Given the description of an element on the screen output the (x, y) to click on. 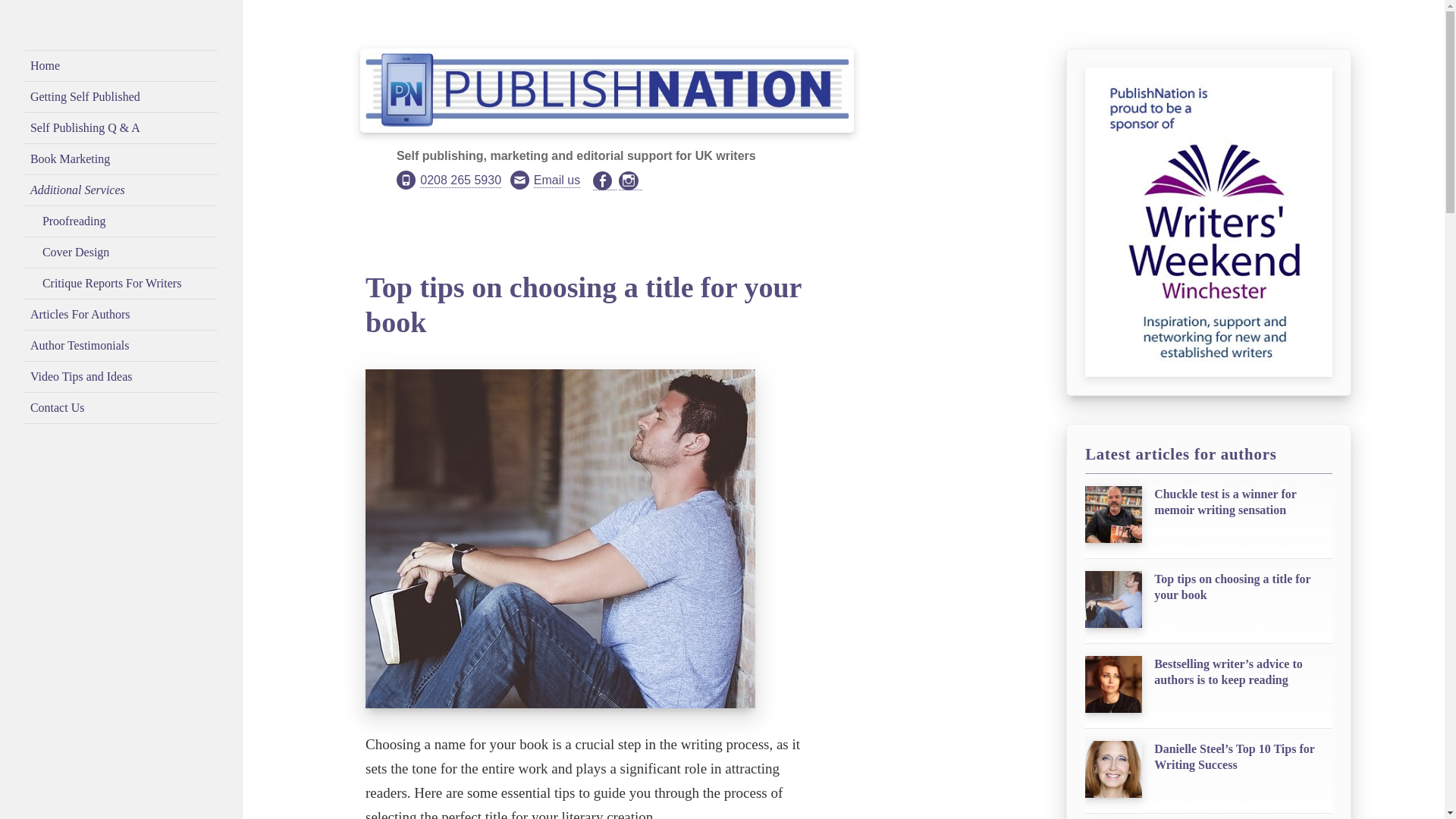
Critique Reports For Writers (120, 283)
Author Testimonials (120, 345)
Getting Self Published (120, 96)
Email PublishNation (556, 180)
Chuckle test is a winner for memoir writing sensation (1208, 519)
Book Marketing (120, 159)
Articles For Authors (120, 314)
Find PublishNation on Facebook (603, 181)
Return to PublishNation home page (606, 95)
Top tips on choosing a title for your book (1208, 603)
Contact Us (120, 408)
Additional Services (120, 190)
Follow PublishNation on Instagram (630, 181)
Home (120, 65)
Proofreading (120, 221)
